Given the description of an element on the screen output the (x, y) to click on. 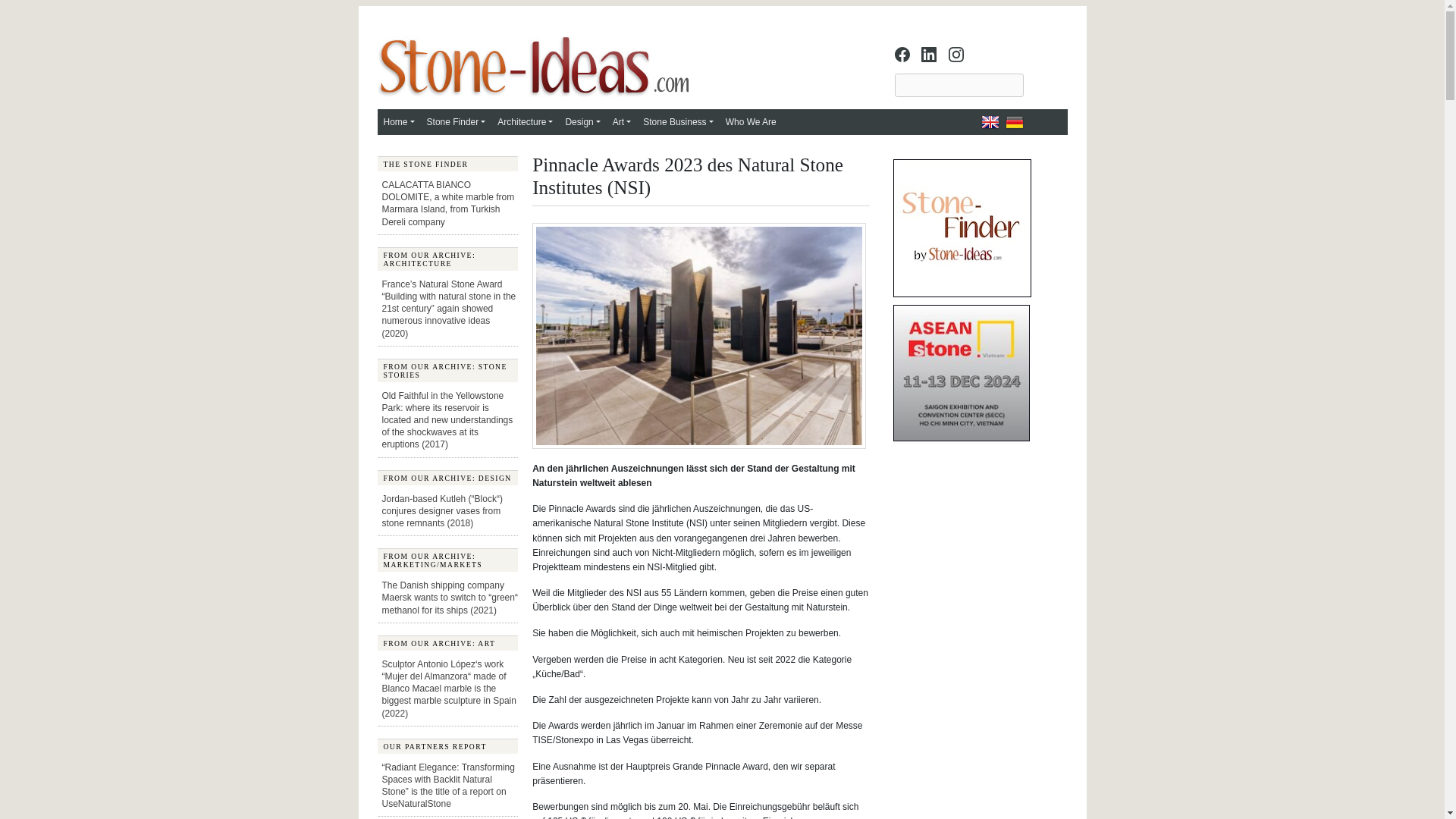
Home (398, 121)
Art (622, 121)
Home (398, 121)
Architecture (525, 121)
Design (582, 121)
FROM OUR ARCHIVE: STONE STORIES (447, 370)
Stone Business (678, 121)
Stone Finder (456, 121)
THE STONE FINDER (447, 163)
